Given the description of an element on the screen output the (x, y) to click on. 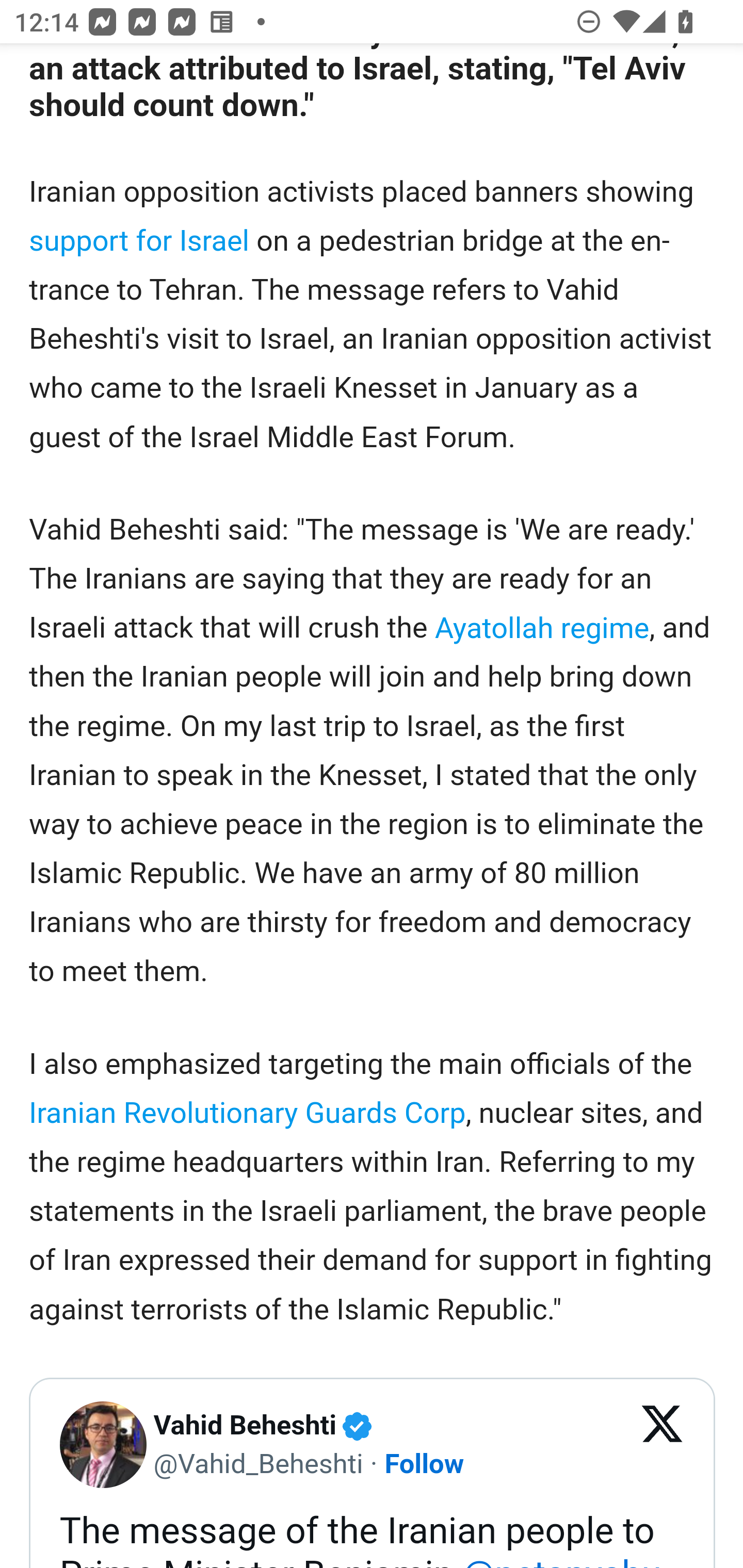
support for Israel (139, 240)
Ayatollah regime (541, 627)
Iranian Revolutionary Guards Corp (246, 1112)
View on X (662, 1444)
@Vahid_Beheshti (257, 1462)
Follow (423, 1462)
